Given the description of an element on the screen output the (x, y) to click on. 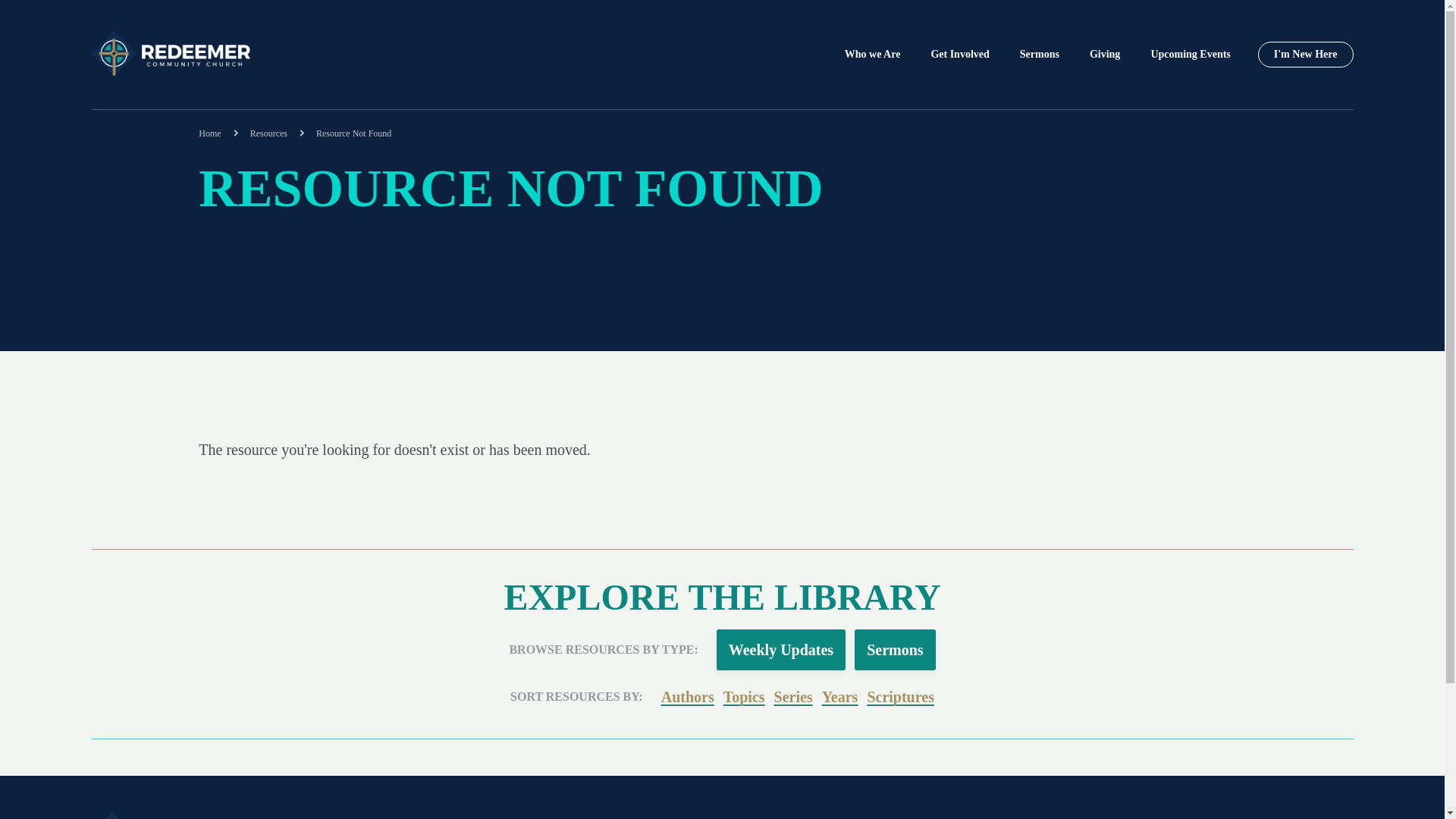
I'm New Here (1305, 54)
Upcoming Events (1190, 54)
Series (793, 696)
Sermons (894, 649)
Resources (277, 133)
Scriptures (900, 696)
Weekly Updates (780, 649)
Home (217, 133)
Years (840, 696)
Topics (744, 696)
Authors (687, 696)
